Given the description of an element on the screen output the (x, y) to click on. 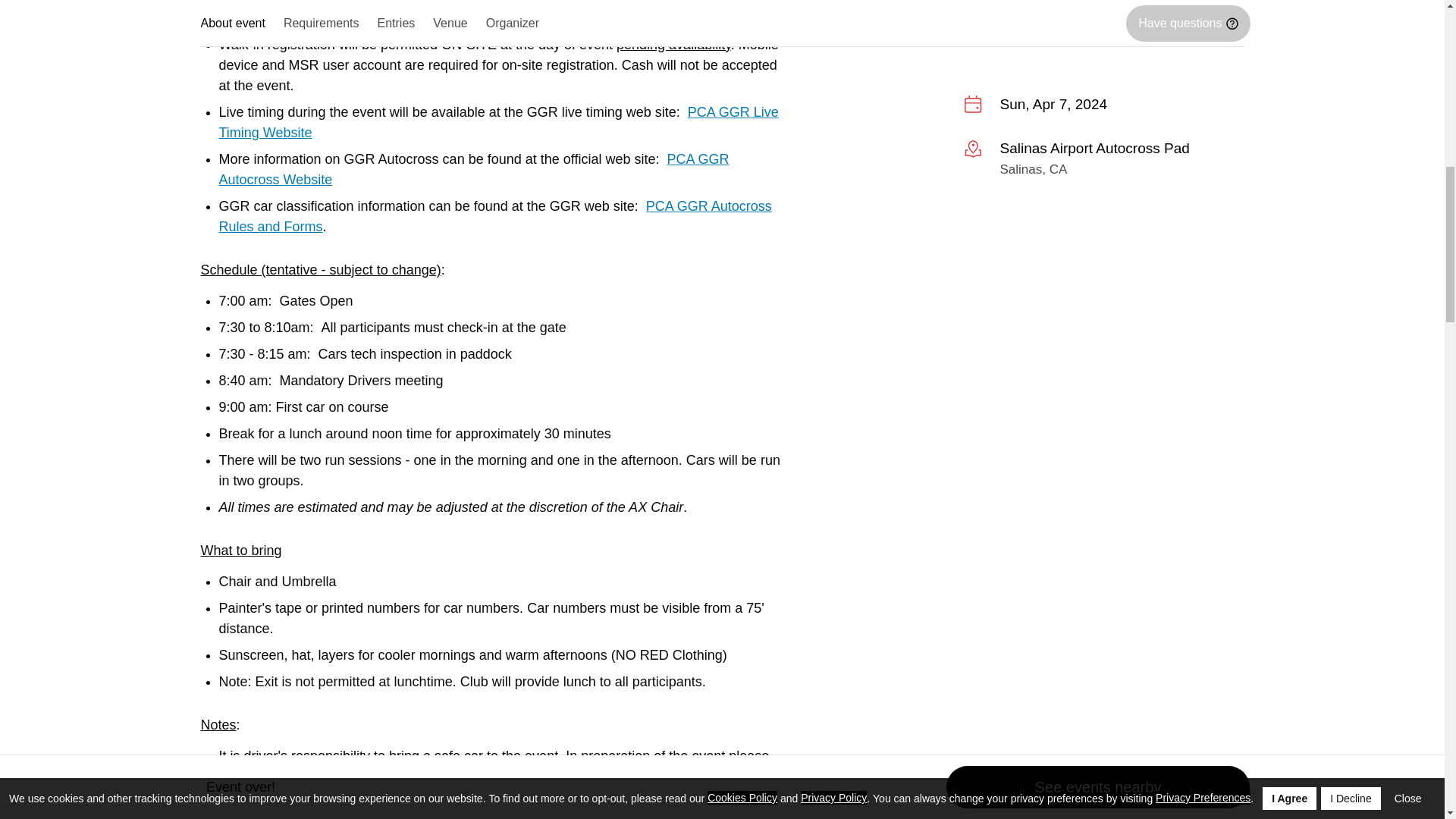
PCA GGR Autocross Website (473, 169)
PCA GGR Live Timing Website (497, 122)
PCA Autocross Safety Inspection Checklist (490, 776)
PCA GGR Autocross Rules and Forms (494, 216)
